Given the description of an element on the screen output the (x, y) to click on. 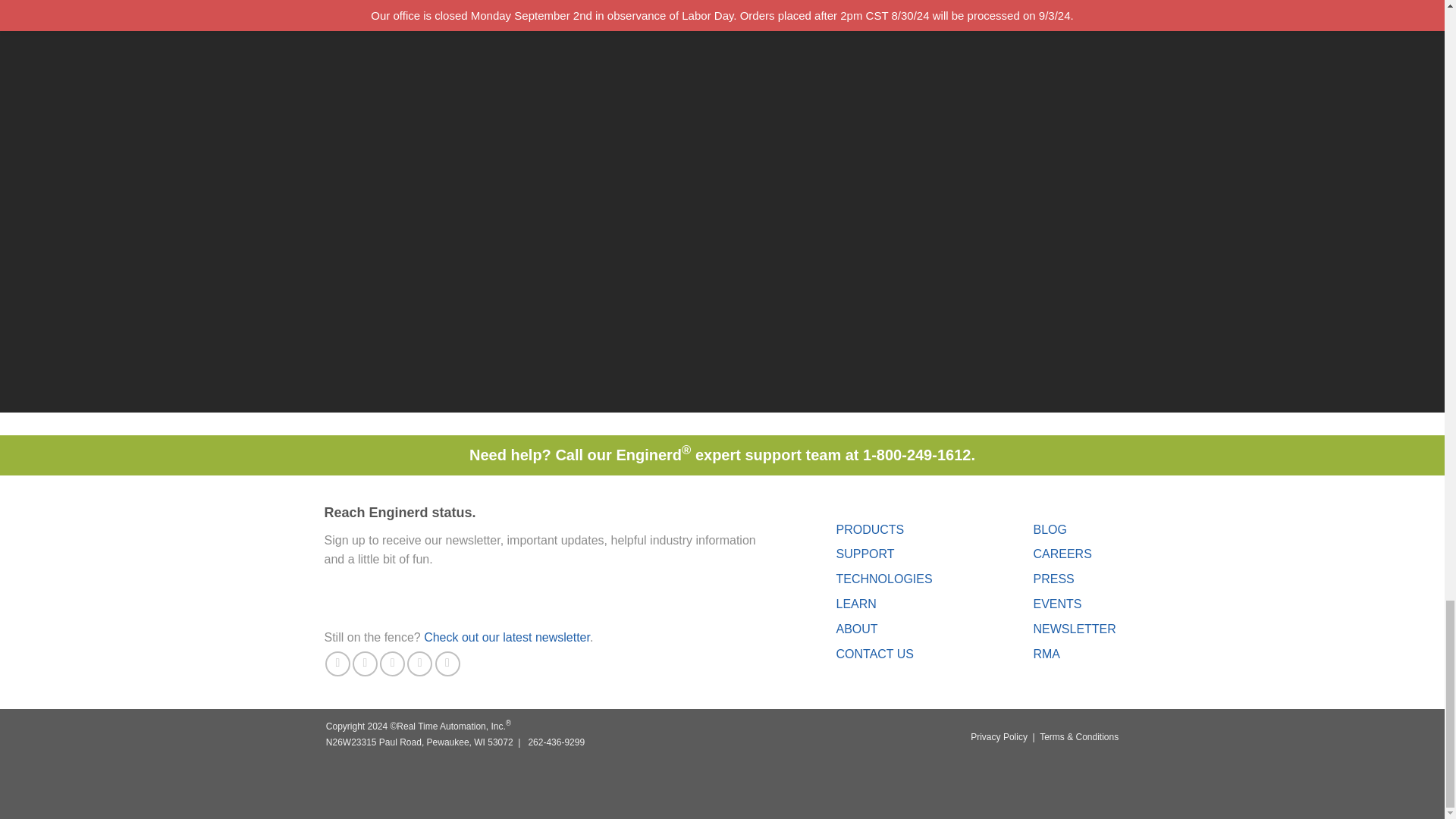
Follow on Twitter (364, 663)
Follow on Facebook (337, 663)
Follow on YouTube (447, 663)
Follow on LinkedIn (419, 663)
Send us an email (392, 663)
